Given the description of an element on the screen output the (x, y) to click on. 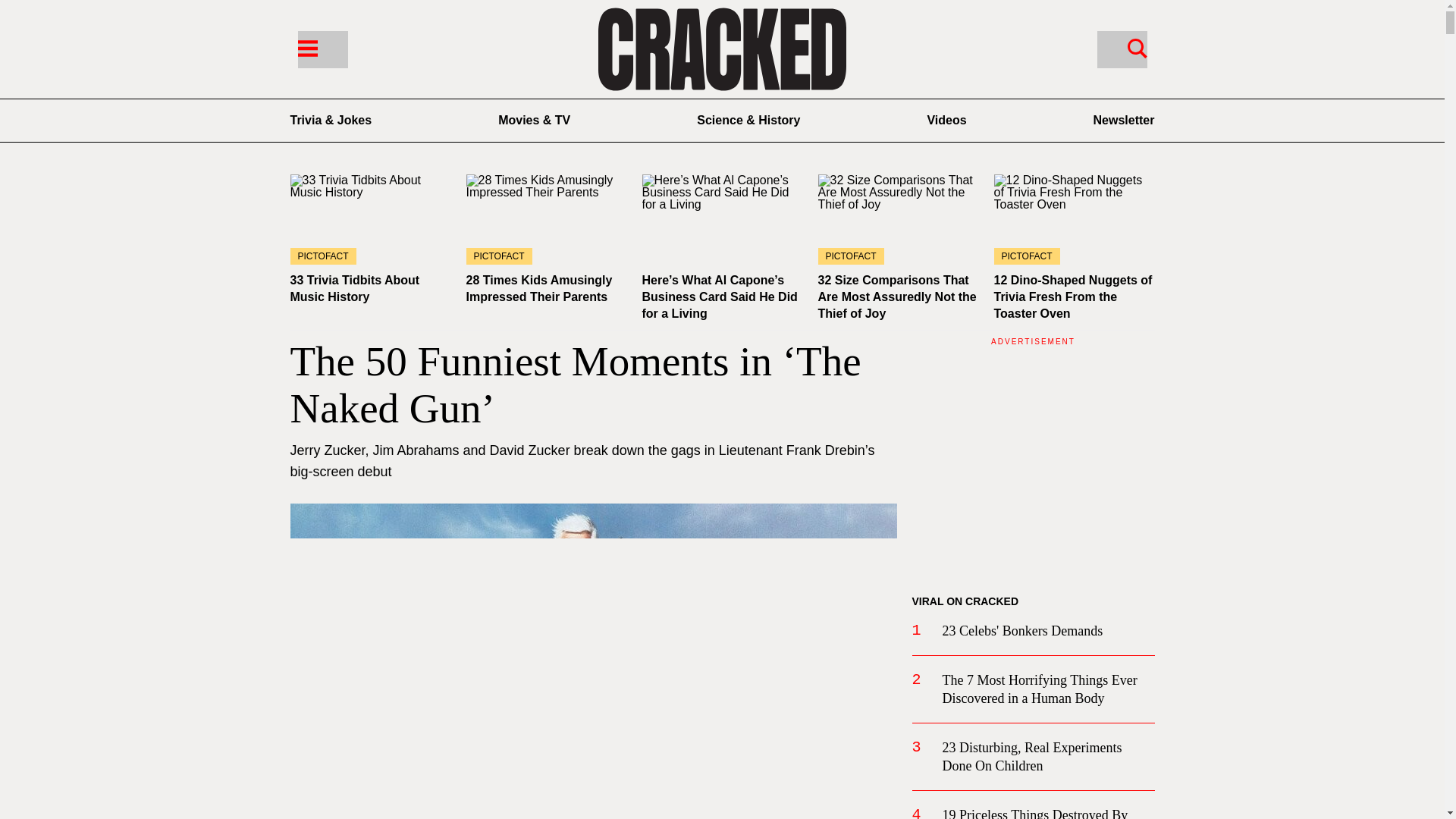
PICTOFACT (545, 219)
Search (1121, 48)
Videos (946, 119)
Search (1136, 47)
28 Times Kids Amusingly Impressed Their Parents (538, 288)
Newsletter (1123, 119)
PICTOFACT (1073, 219)
33 Trivia Tidbits About Music History (369, 219)
Videos (946, 119)
PICTOFACT (369, 219)
28 Times Kids Amusingly Impressed Their Parents (545, 219)
Menu (307, 47)
33 Trivia Tidbits About Music History (354, 288)
12 Dino-Shaped Nuggets of Trivia Fresh From the Toaster Oven (1071, 296)
